Given the description of an element on the screen output the (x, y) to click on. 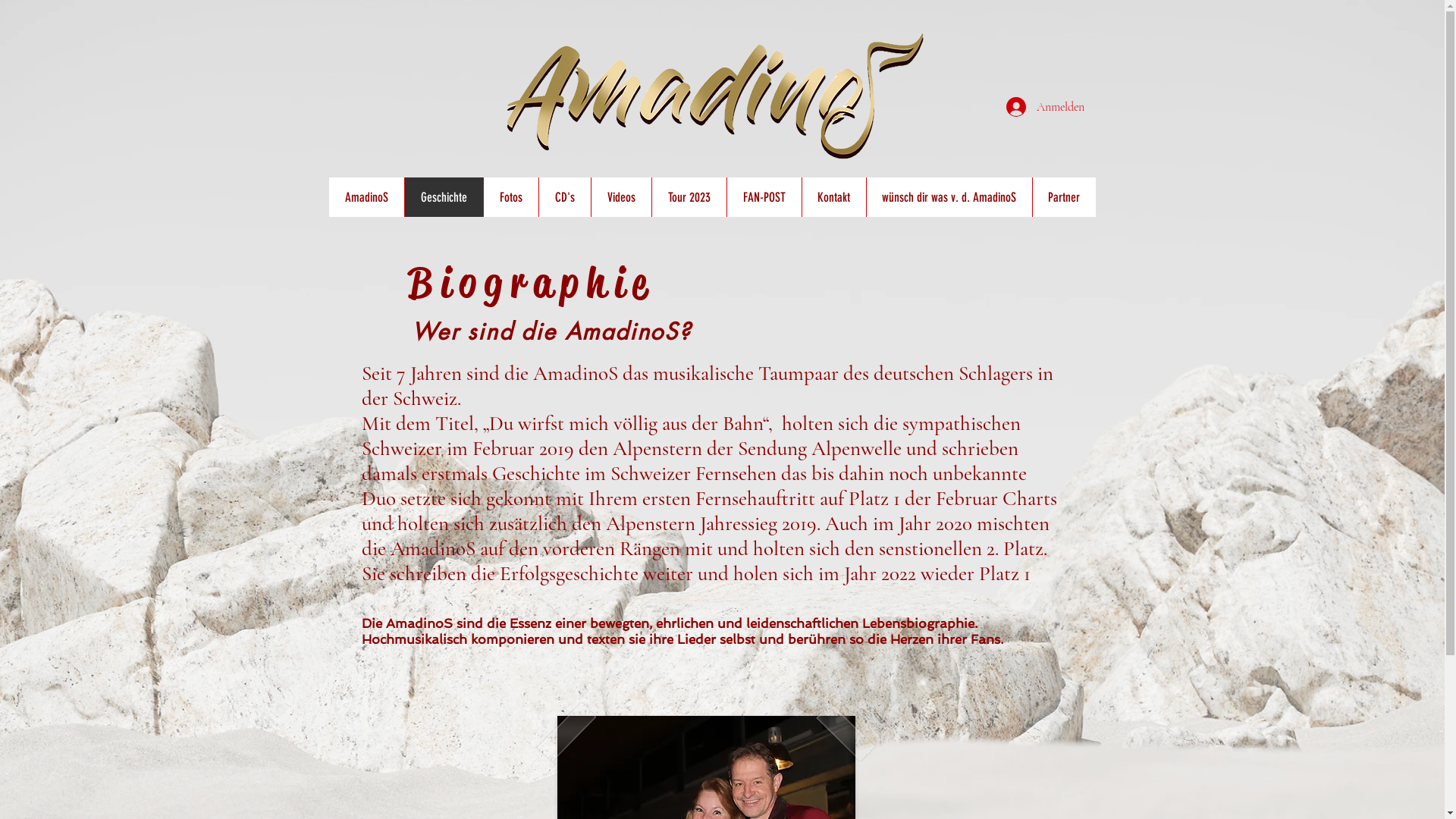
Videos Element type: text (619, 196)
CD's Element type: text (564, 196)
Anmelden Element type: text (1039, 106)
Kontakt Element type: text (832, 196)
Geschichte Element type: text (442, 196)
AmadinoS Element type: text (366, 196)
Tour 2023 Element type: text (687, 196)
Partner Element type: text (1063, 196)
FAN-POST Element type: text (763, 196)
Fotos Element type: text (509, 196)
